Given the description of an element on the screen output the (x, y) to click on. 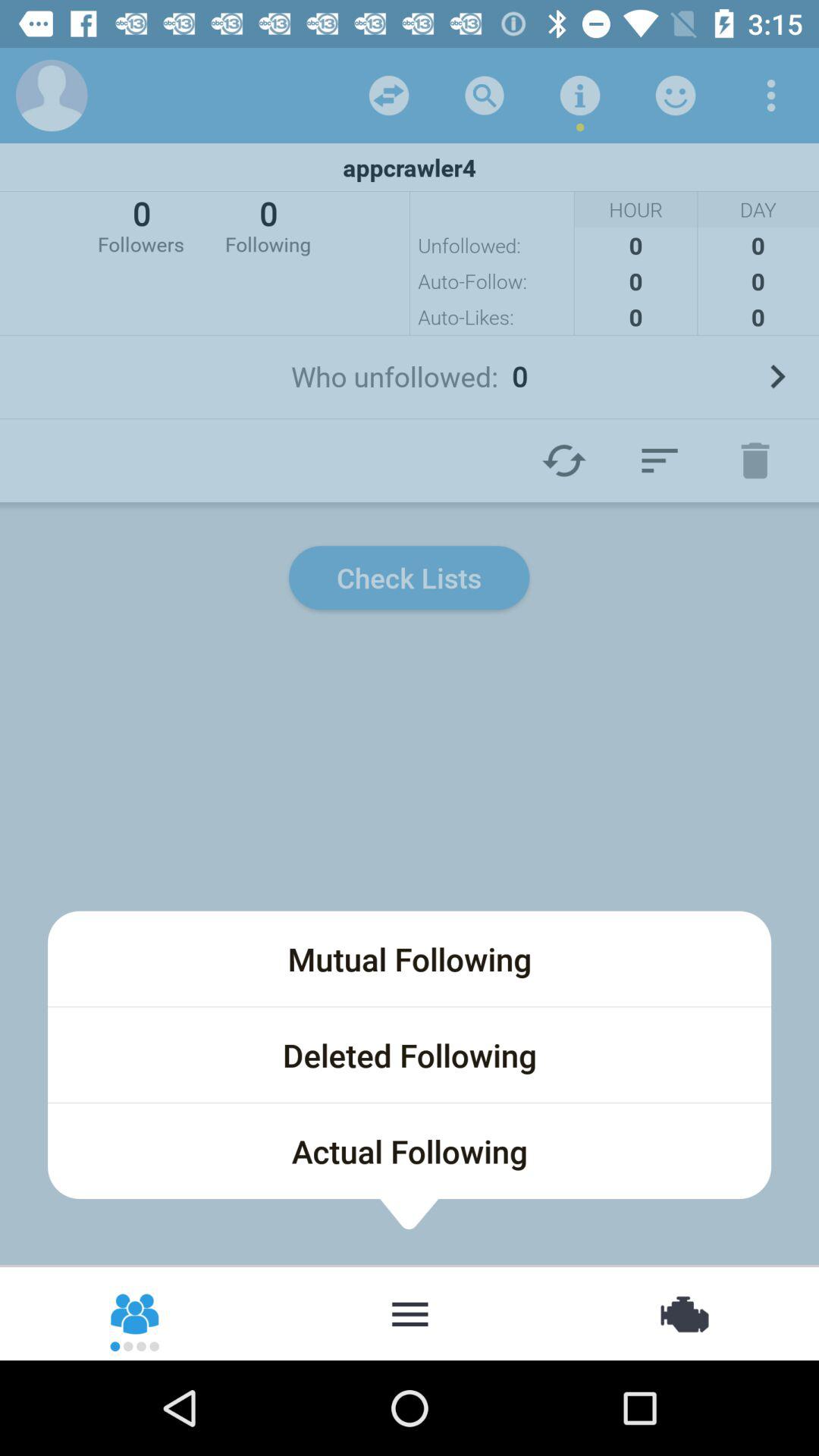
flip until mutual following item (409, 958)
